Given the description of an element on the screen output the (x, y) to click on. 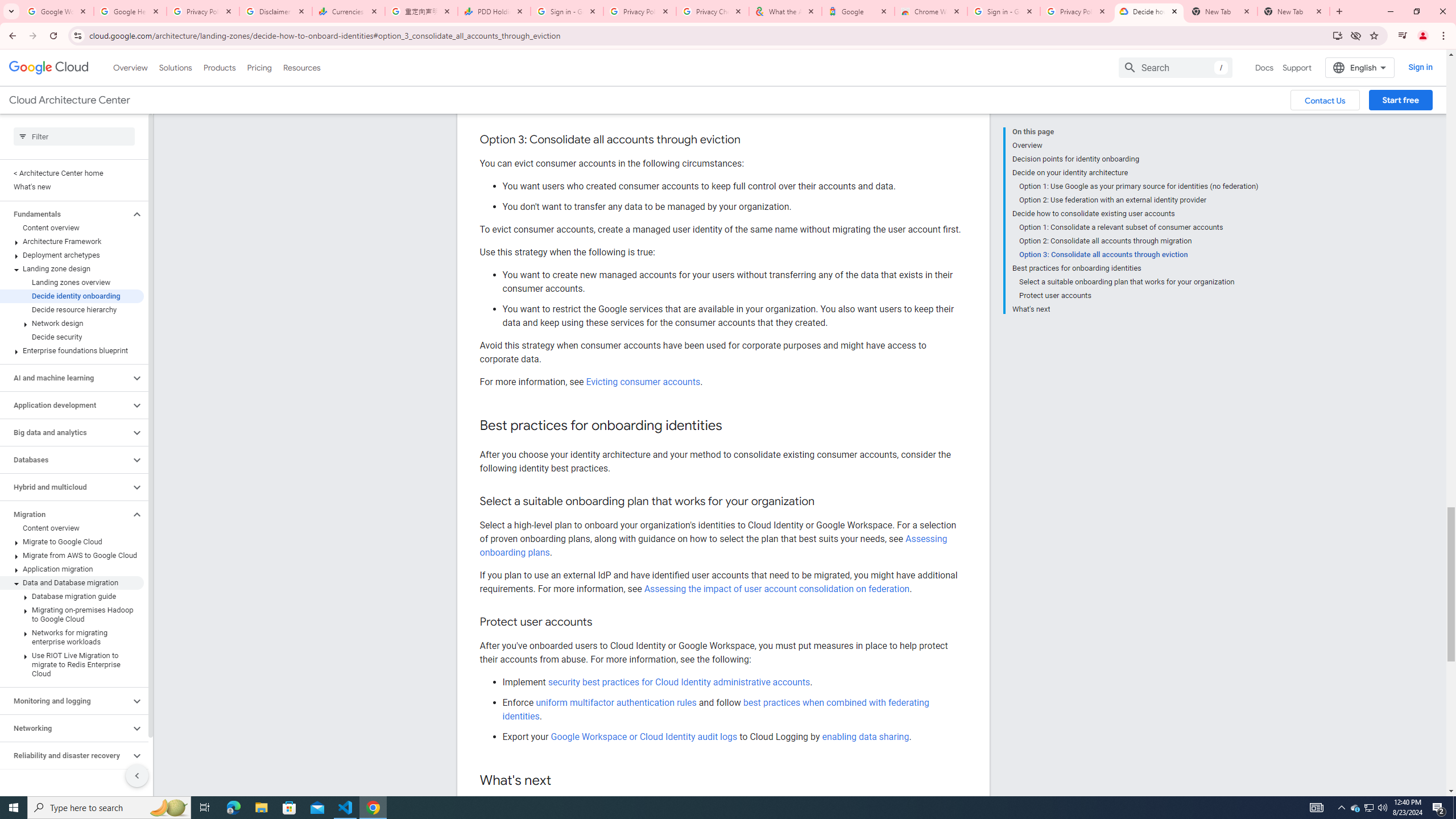
Security and IAM (64, 783)
Content overview (72, 527)
enabling data sharing (865, 736)
Copy link to this section: Protect user accounts (603, 622)
Migrating consumer accounts (646, 106)
Decide security (72, 336)
Google Cloud (48, 67)
Install Google Cloud (1336, 35)
Decision points for identity onboarding (1134, 159)
Currencies - Google Finance (348, 11)
